Given the description of an element on the screen output the (x, y) to click on. 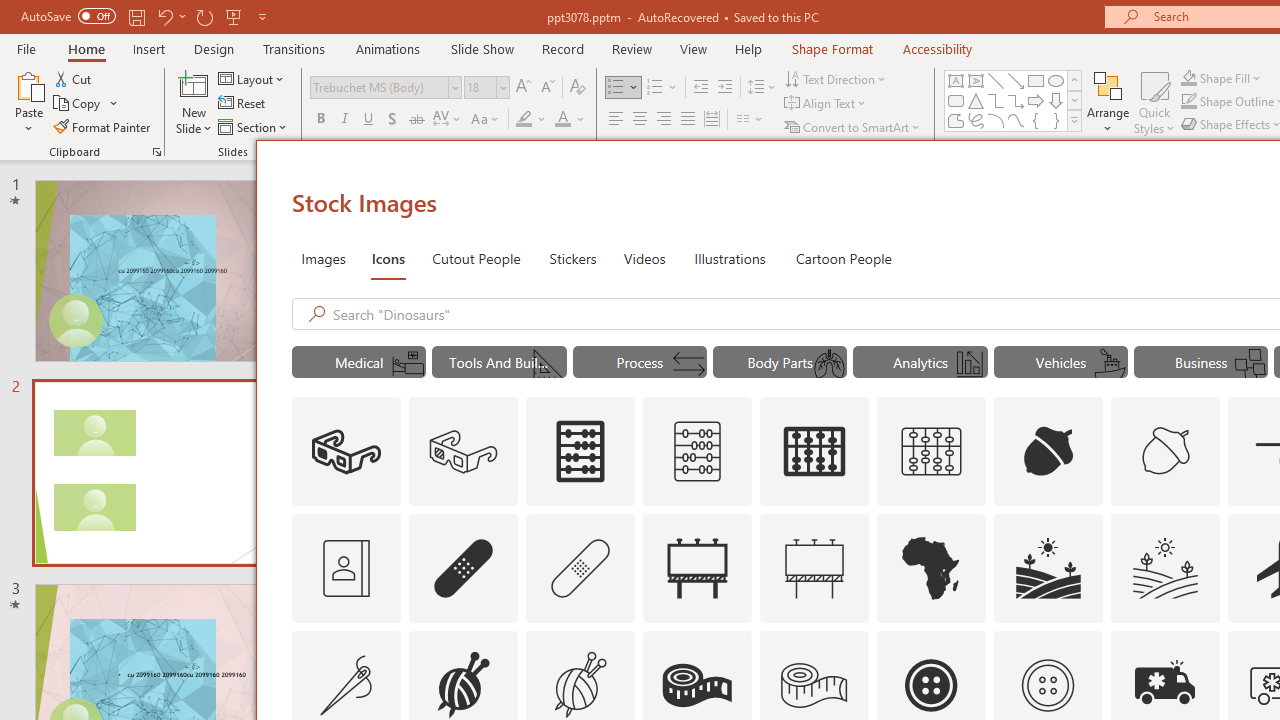
AutomationID: Icons_3dGlasses_M (463, 452)
"Process" Icons. (639, 362)
Cutout People (477, 258)
"Body Parts" Icons. (779, 362)
AutomationID: Icons_PostitNotes1_M (1249, 364)
"Tools And Building" Icons. (499, 362)
